Given the description of an element on the screen output the (x, y) to click on. 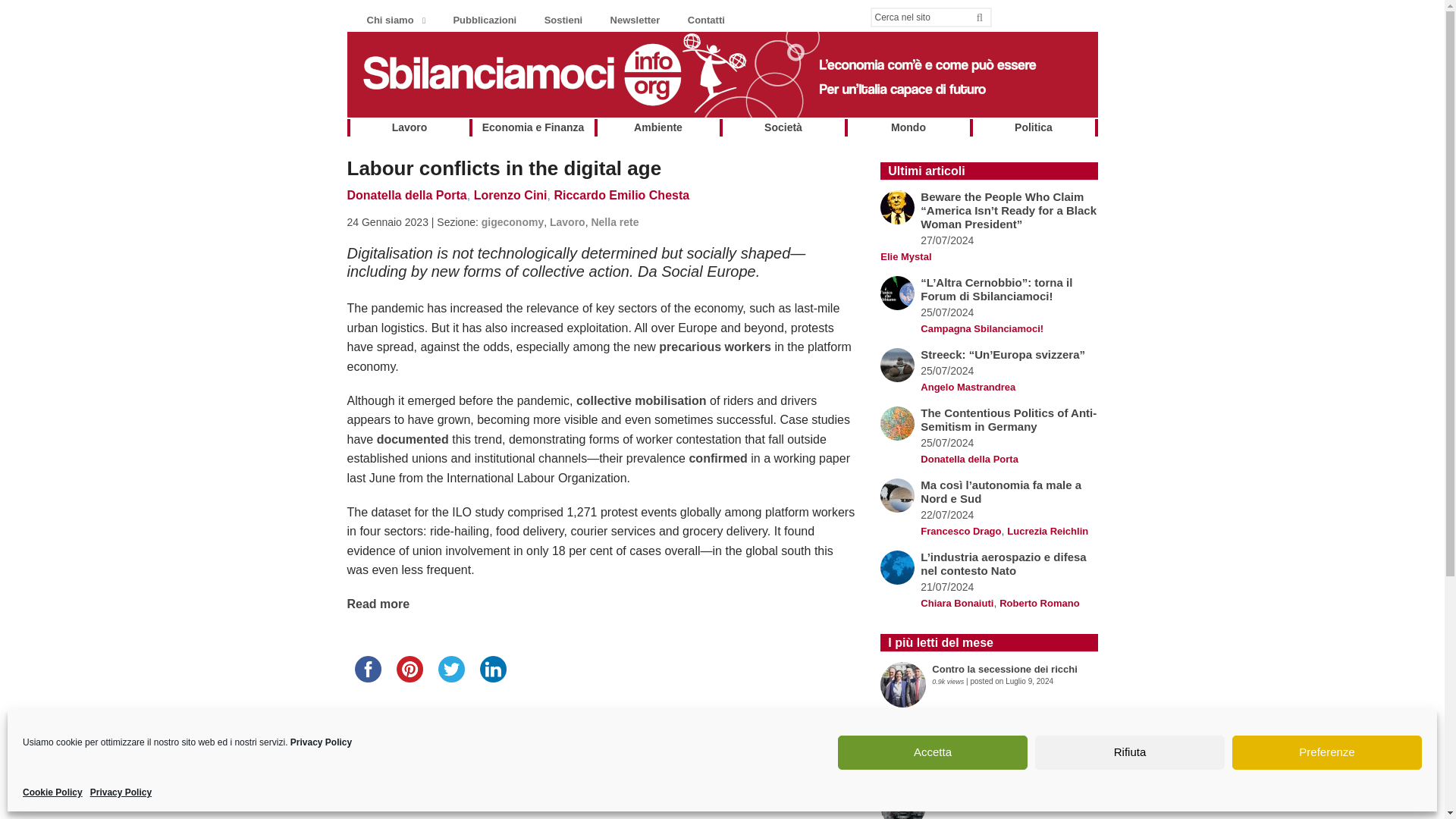
pinterest (408, 668)
Ambiente (657, 127)
homepage Sbilinfo (722, 109)
Contatti (700, 18)
twitter (450, 668)
Chi siamo (390, 18)
Lavoro (567, 222)
Mondo (908, 127)
PayPal - The safer, easier way to pay online! (605, 749)
View all items in gigeconomy (512, 222)
Lavoro (409, 127)
Economia e Finanza (532, 127)
Lorenzo Cini (510, 195)
Sostieni (557, 18)
Riccardo Emilio Chesta (620, 195)
